Given the description of an element on the screen output the (x, y) to click on. 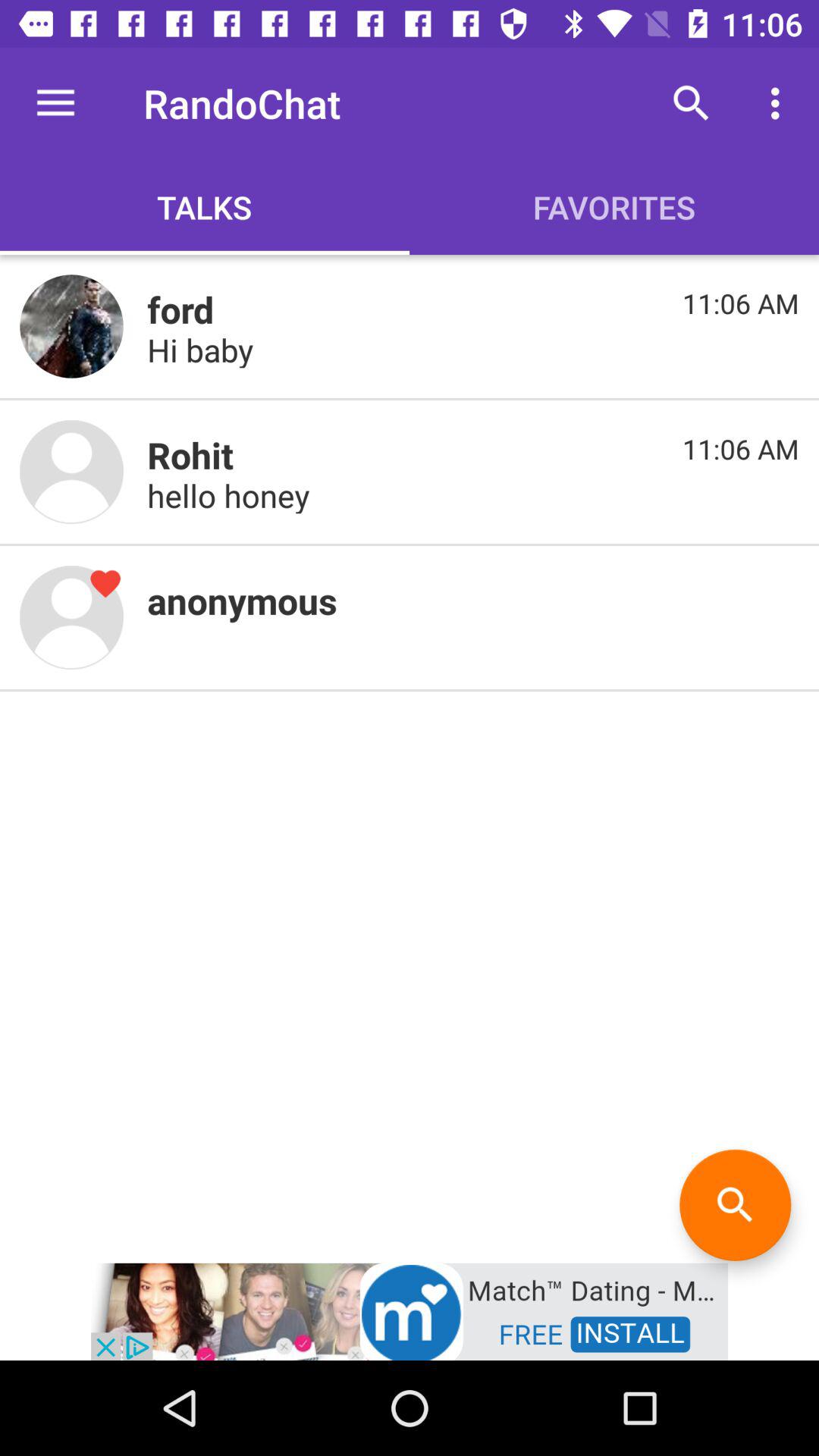
important to know (71, 471)
